Given the description of an element on the screen output the (x, y) to click on. 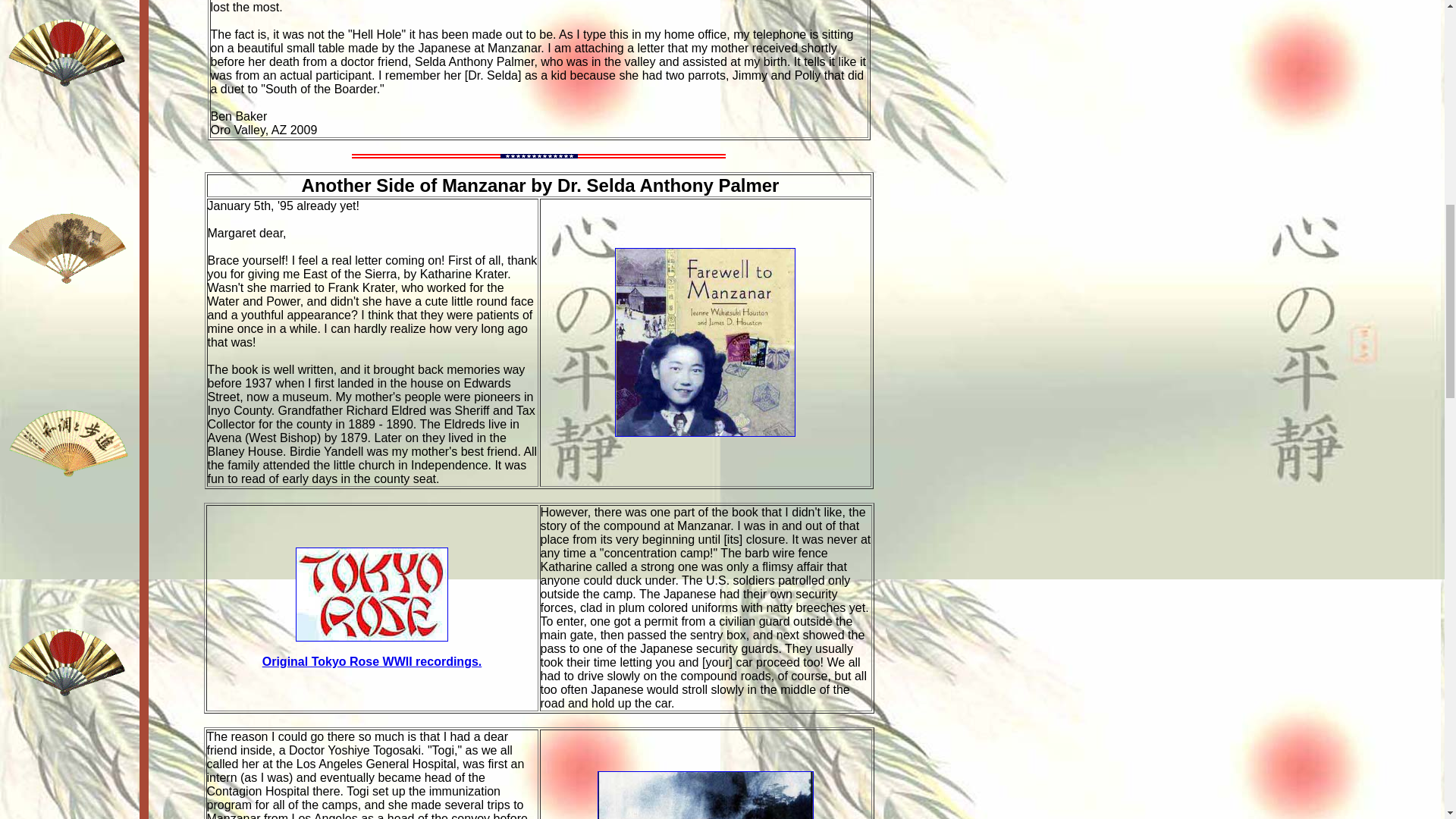
Original Tokyo Rose WWII recordings. (371, 661)
